Given the description of an element on the screen output the (x, y) to click on. 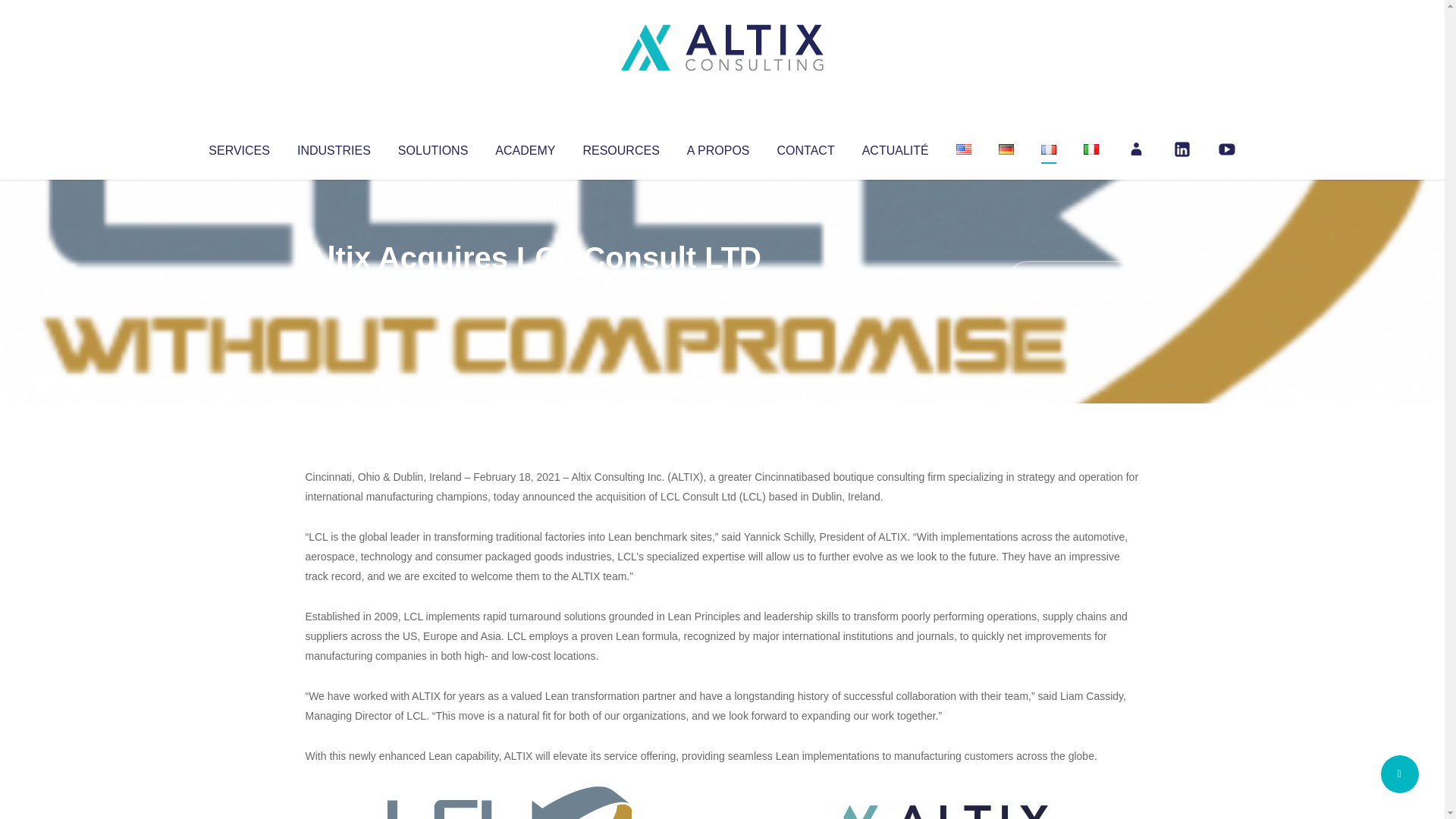
ACADEMY (524, 146)
No Comments (1073, 278)
RESOURCES (620, 146)
Uncategorized (530, 287)
INDUSTRIES (334, 146)
Altix (333, 287)
SOLUTIONS (432, 146)
A PROPOS (718, 146)
SERVICES (238, 146)
Articles par Altix (333, 287)
